Given the description of an element on the screen output the (x, y) to click on. 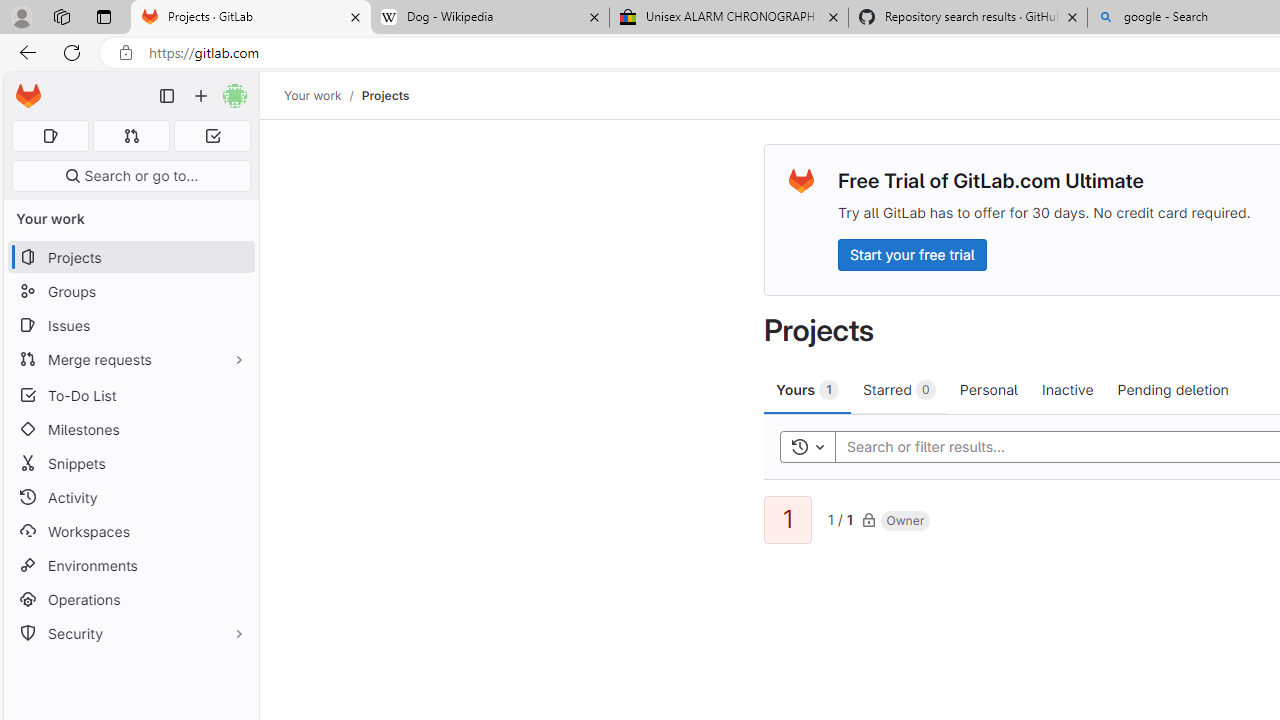
Your work (312, 95)
Toggle history (807, 445)
Primary navigation sidebar (167, 96)
Inactive (1067, 389)
Activity (130, 497)
Merge requests (130, 358)
Projects (384, 95)
Start your free trial (912, 254)
Operations (130, 599)
1 (787, 519)
Create new... (201, 96)
Activity (130, 497)
